Given the description of an element on the screen output the (x, y) to click on. 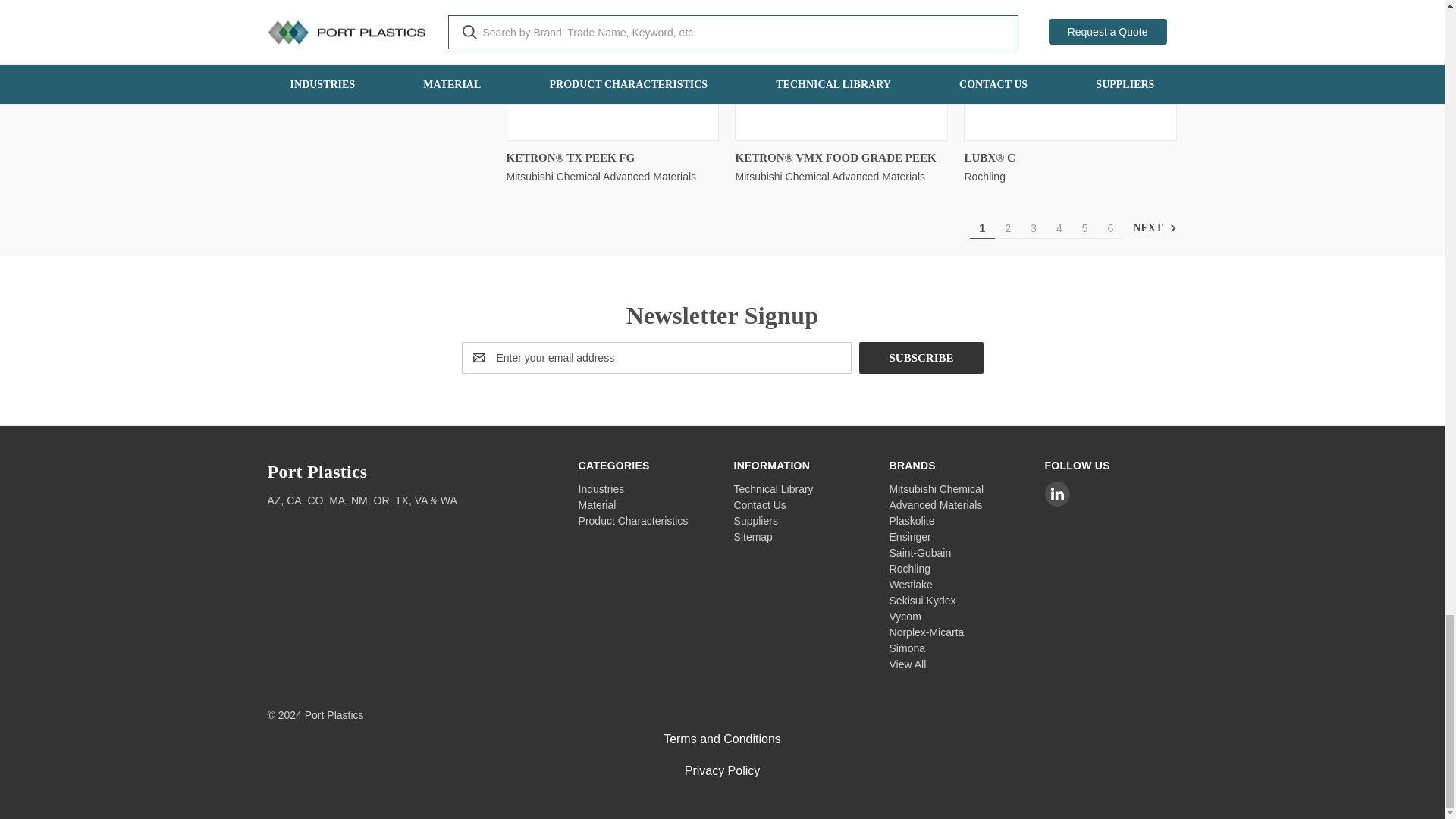
Subscribe (920, 357)
